Given the description of an element on the screen output the (x, y) to click on. 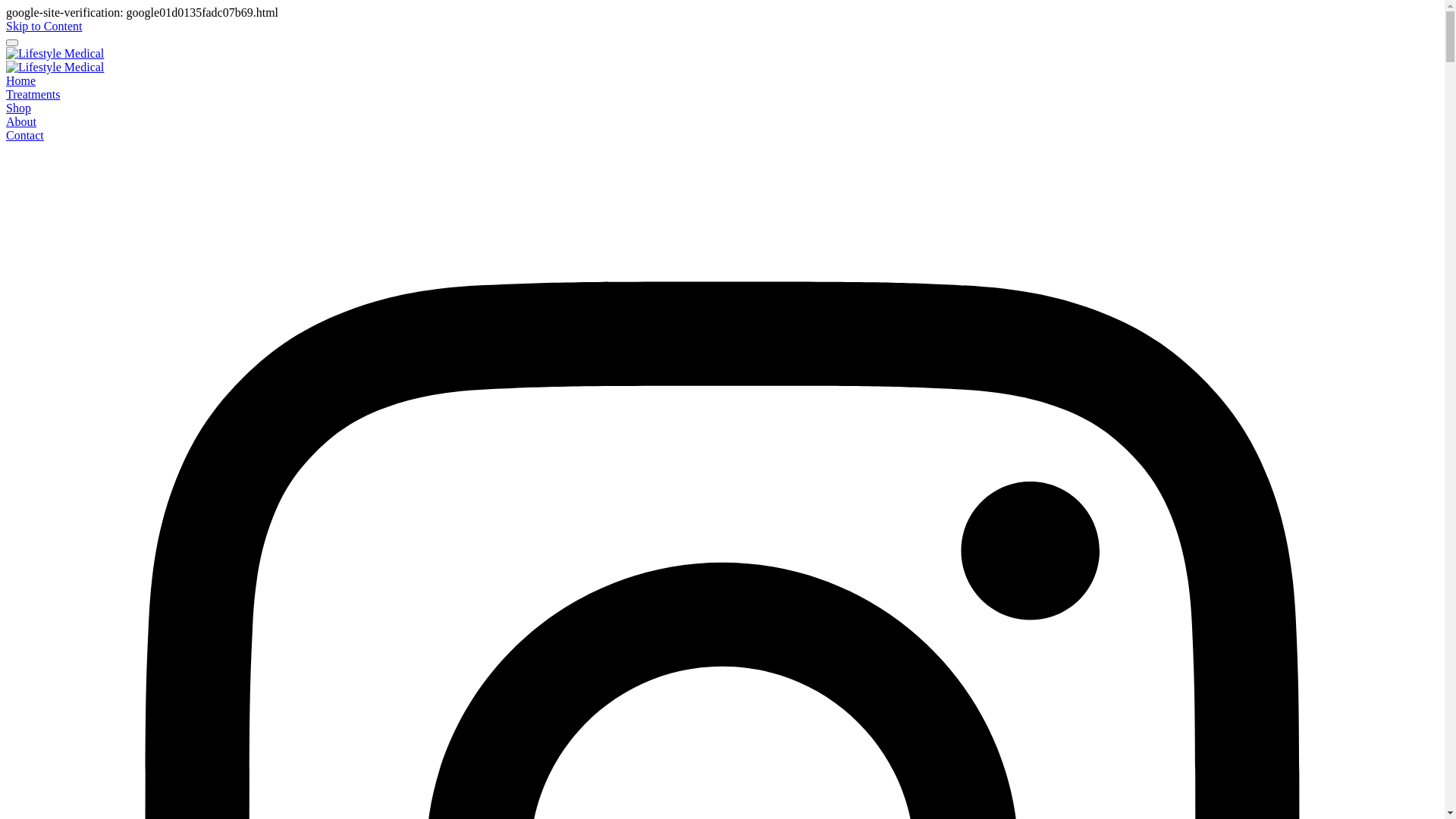
Skip to Content Element type: text (43, 25)
About Element type: text (21, 121)
Contact Element type: text (24, 134)
Home Element type: text (20, 80)
Treatments Element type: text (32, 93)
Shop Element type: text (18, 107)
